Given the description of an element on the screen output the (x, y) to click on. 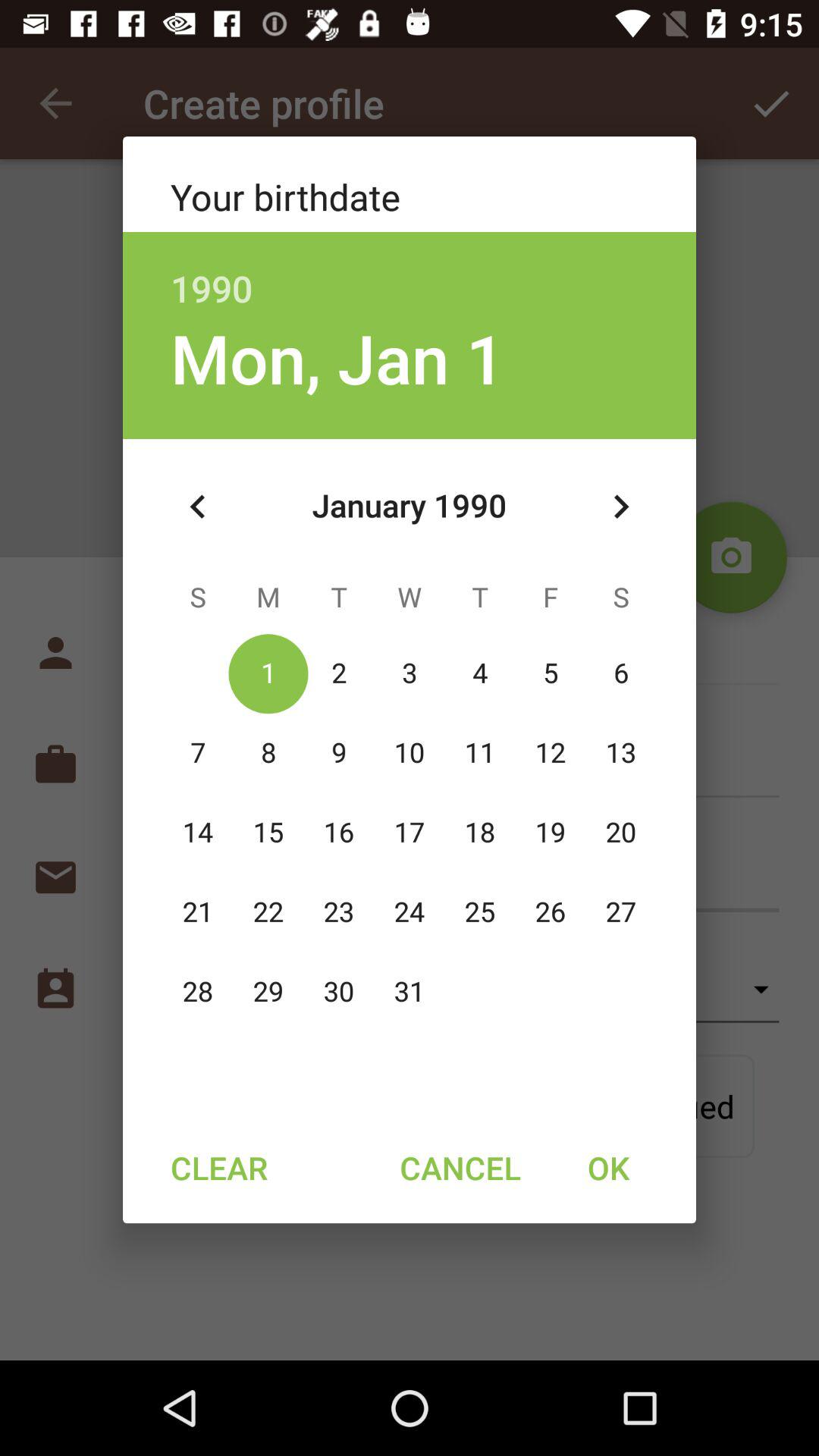
launch item to the left of cancel (218, 1167)
